Given the description of an element on the screen output the (x, y) to click on. 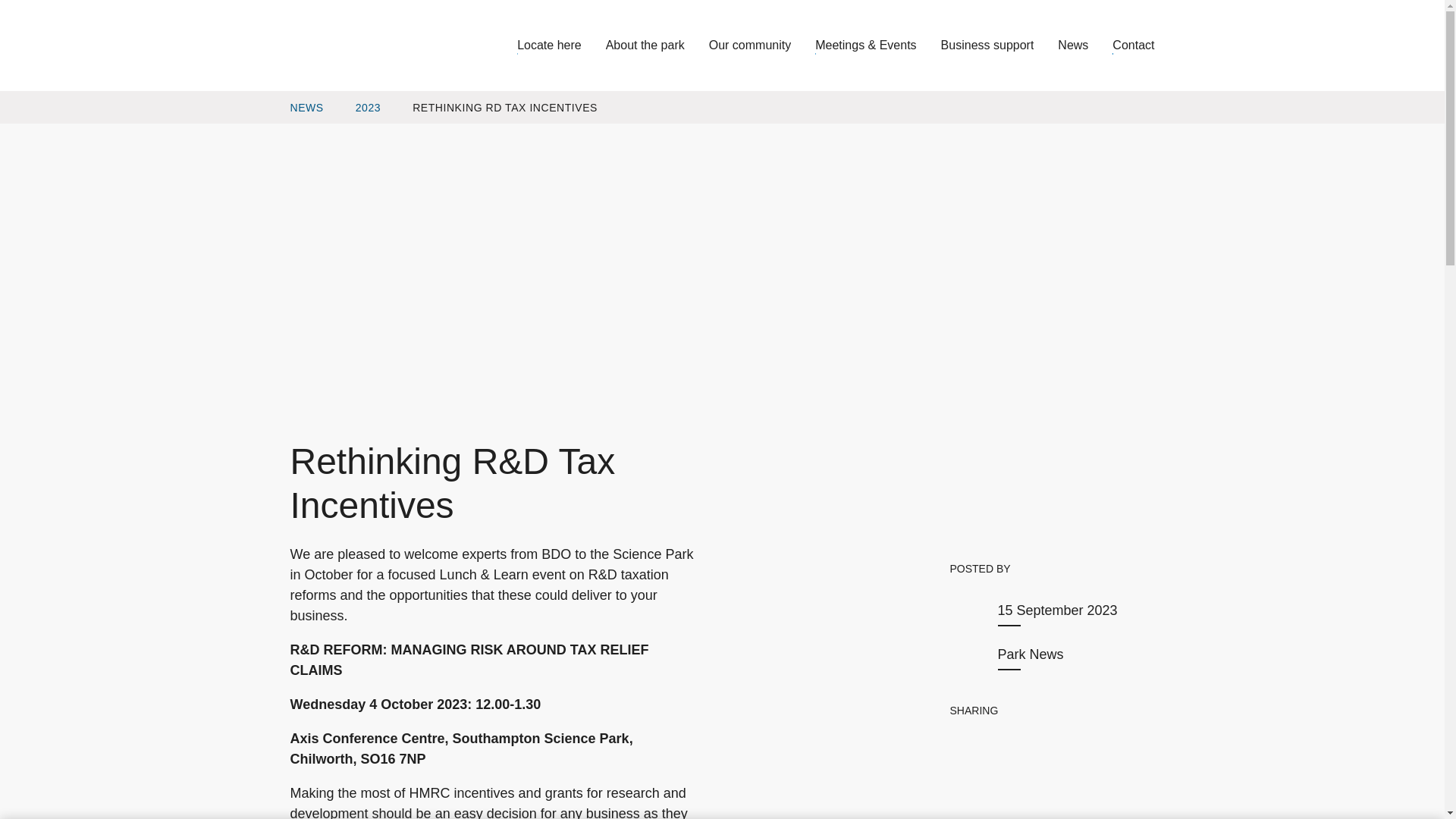
Locate here (560, 45)
About the park (657, 45)
Our community (762, 45)
Business support (999, 45)
